Given the description of an element on the screen output the (x, y) to click on. 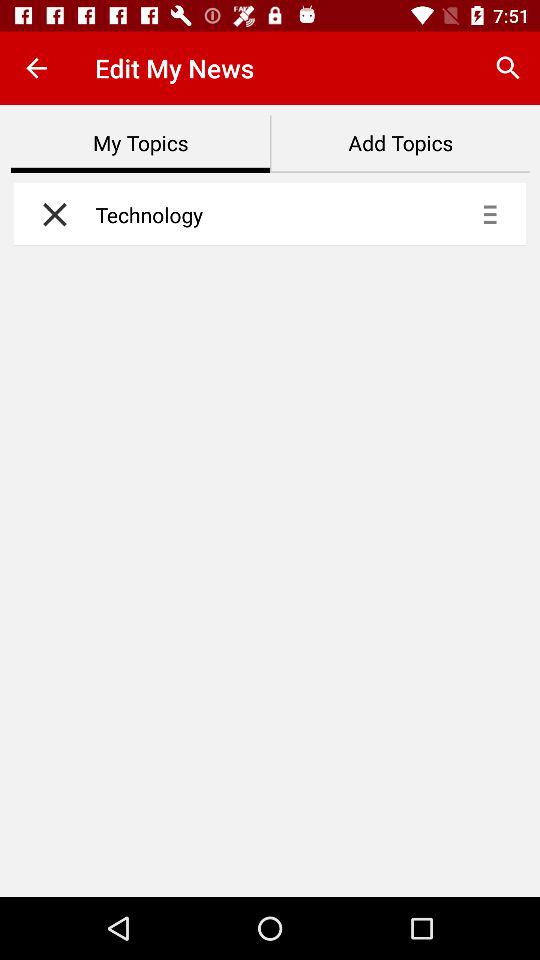
tap icon above my topics (36, 68)
